Given the description of an element on the screen output the (x, y) to click on. 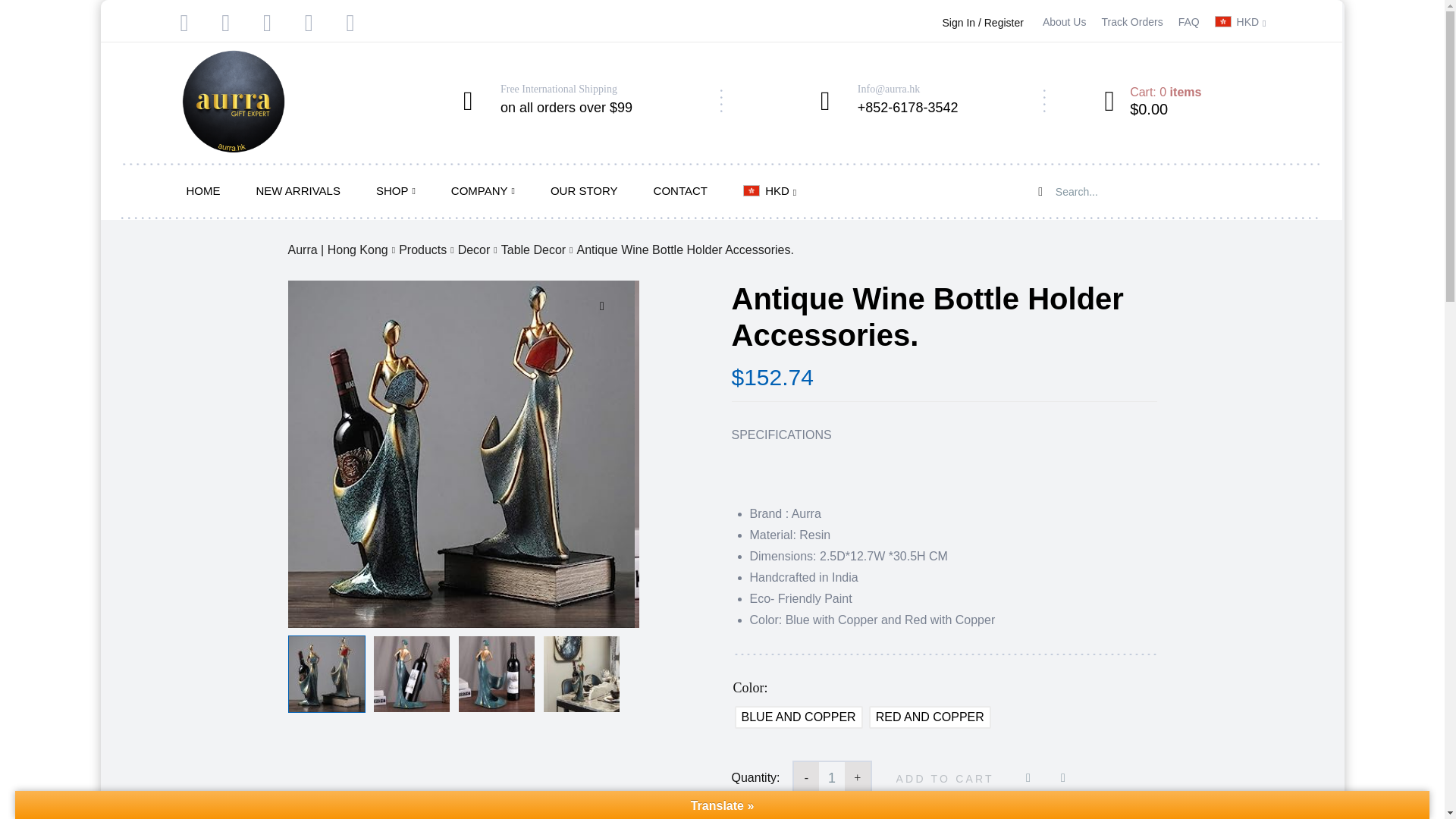
View your shopping cart (1153, 101)
Go to the Table Decor Category archives. (533, 249)
Blue and copper (797, 716)
2 (461, 454)
Go to the Decor Category archives. (474, 249)
Go to Products. (422, 249)
1 (831, 777)
6 (807, 454)
